Given the description of an element on the screen output the (x, y) to click on. 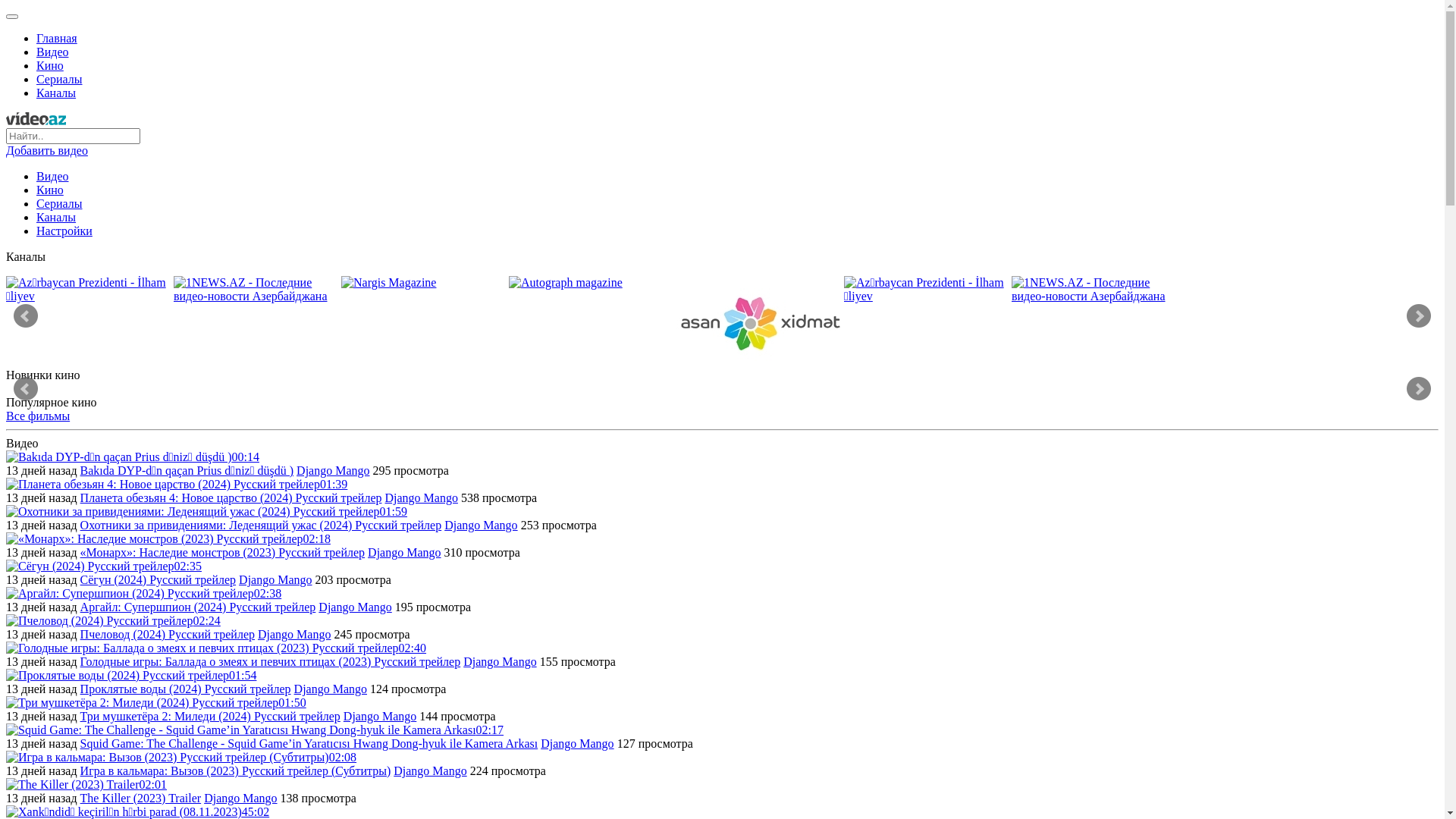
01:39 Element type: text (176, 483)
Django Mango Element type: text (354, 606)
Django Mango Element type: text (274, 579)
02:38 Element type: text (143, 592)
The Killer (2023) Trailer Element type: text (140, 797)
Django Mango Element type: text (379, 715)
Django Mango Element type: text (403, 552)
02:18 Element type: text (168, 538)
The Killer (2023) Trailer Element type: hover (72, 784)
02:24 Element type: text (113, 620)
02:08 Element type: text (181, 756)
01:50 Element type: text (156, 702)
Django Mango Element type: text (239, 797)
Django Mango Element type: text (330, 688)
Django Mango Element type: text (332, 470)
45:02 Element type: text (137, 811)
Next Element type: text (1418, 316)
Django Mango Element type: text (429, 770)
02:40 Element type: text (216, 647)
01:54 Element type: text (131, 674)
02:01 Element type: text (86, 784)
00:14 Element type: text (132, 456)
Prev Element type: text (25, 388)
Django Mango Element type: text (421, 497)
01:59 Element type: text (206, 511)
Django Mango Element type: text (576, 743)
Django Mango Element type: text (480, 524)
Django Mango Element type: text (499, 661)
Prev Element type: text (25, 316)
02:35 Element type: text (103, 565)
Django Mango Element type: text (293, 633)
02:17 Element type: text (254, 729)
Next Element type: text (1418, 388)
